Given the description of an element on the screen output the (x, y) to click on. 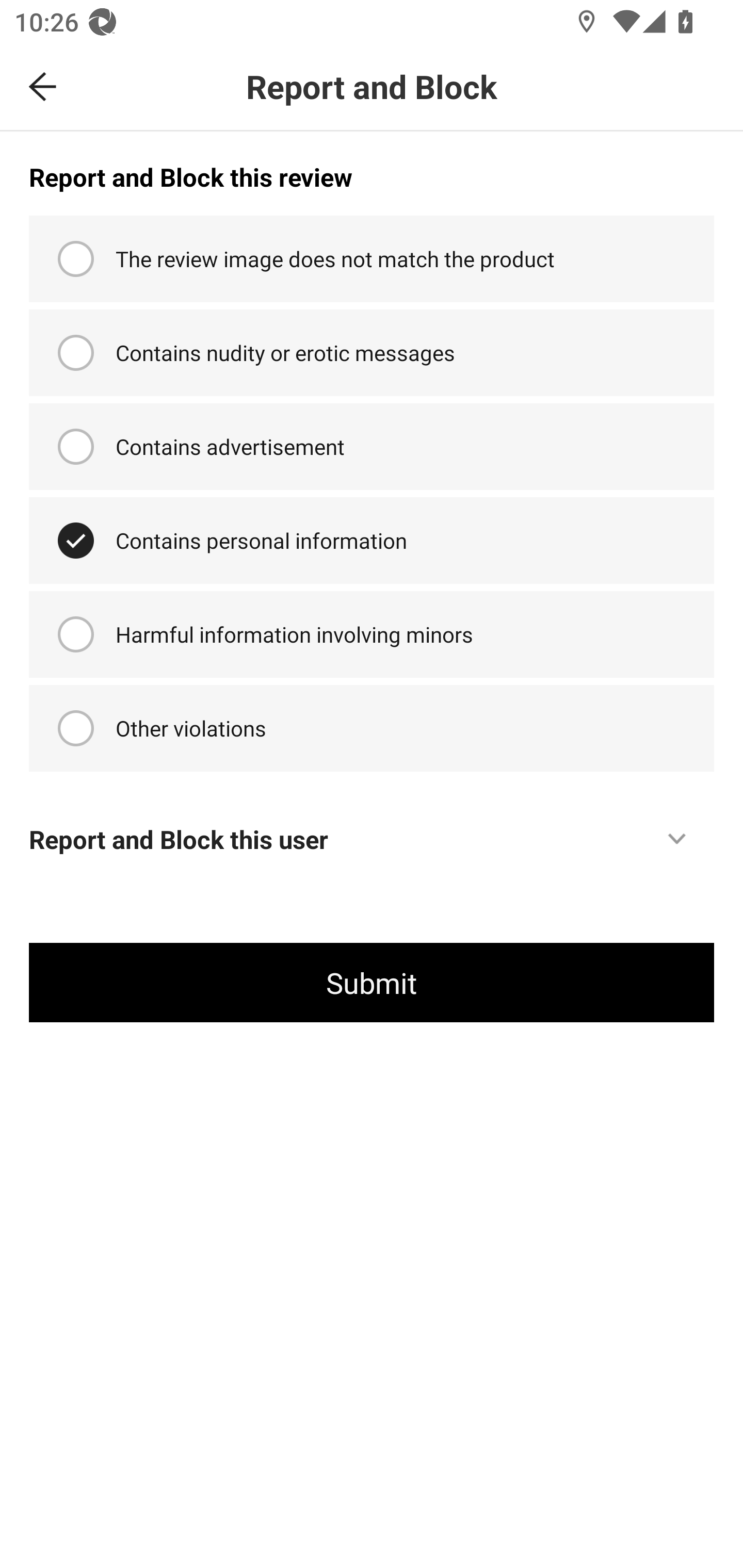
Navigate up (43, 86)
The review image does not match the product (371, 259)
Contains nudity or erotic messages (371, 352)
Contains advertisement (371, 445)
Contains personal information (371, 540)
Harmful information involving minors (371, 634)
Other violations (371, 728)
Report and Block this user (371, 828)
Submit (371, 982)
